Given the description of an element on the screen output the (x, y) to click on. 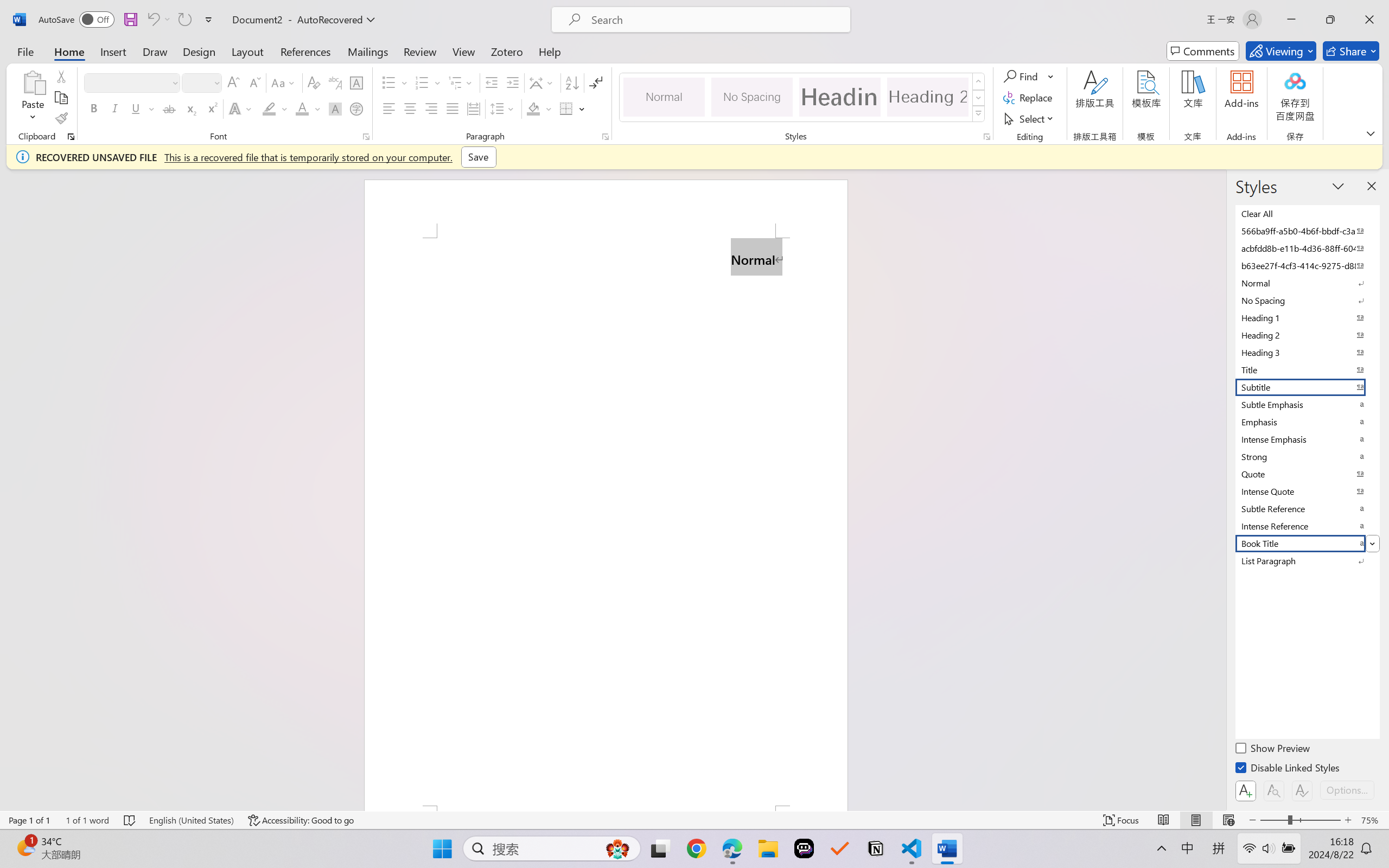
Text Highlight Color (274, 108)
566ba9ff-a5b0-4b6f-bbdf-c3ab41993fc2 (1306, 230)
Copy (60, 97)
Heading 3 (1306, 352)
Can't Undo (152, 19)
Options... (1346, 789)
Line and Paragraph Spacing (503, 108)
Show Preview (1273, 749)
